Given the description of an element on the screen output the (x, y) to click on. 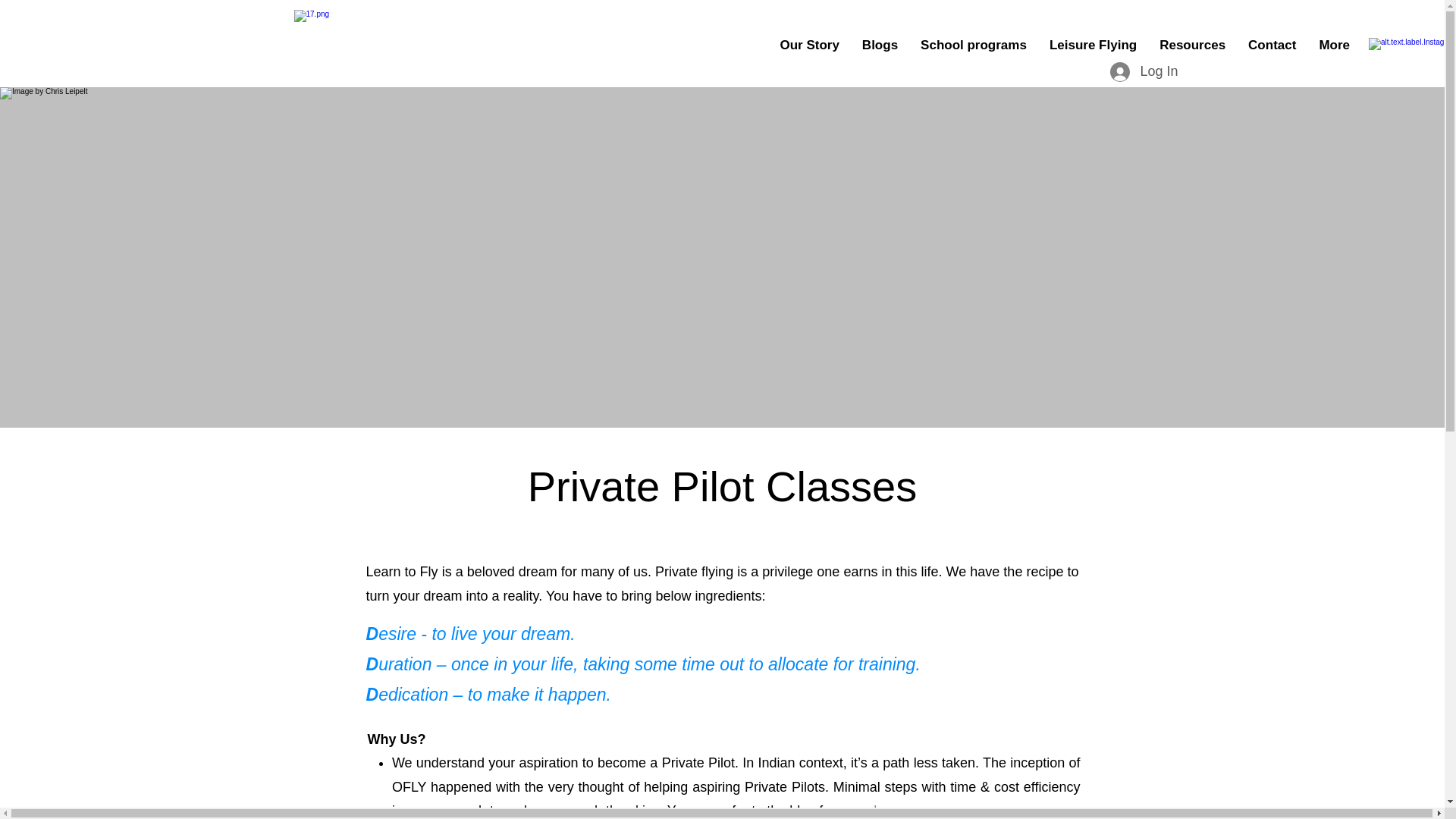
Blogs (879, 45)
Contact (1271, 45)
here (887, 810)
Leisure Flying (1093, 45)
Our Story (809, 45)
Log In (1130, 71)
Resources (1192, 45)
School programs (973, 45)
